Given the description of an element on the screen output the (x, y) to click on. 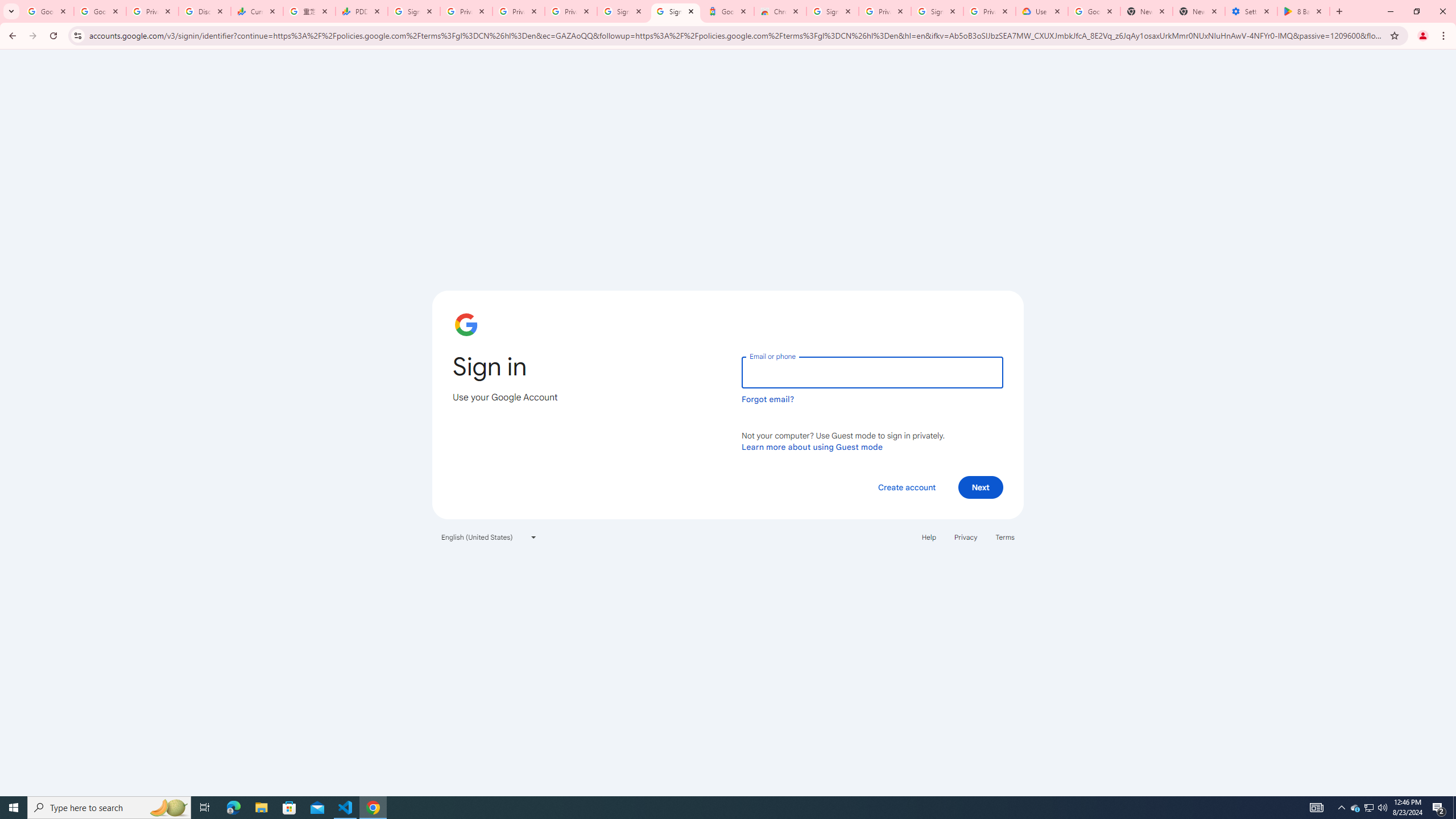
Learn more about using Guest mode (812, 446)
8 Ball Pool - Apps on Google Play (1303, 11)
Google (727, 11)
